Given the description of an element on the screen output the (x, y) to click on. 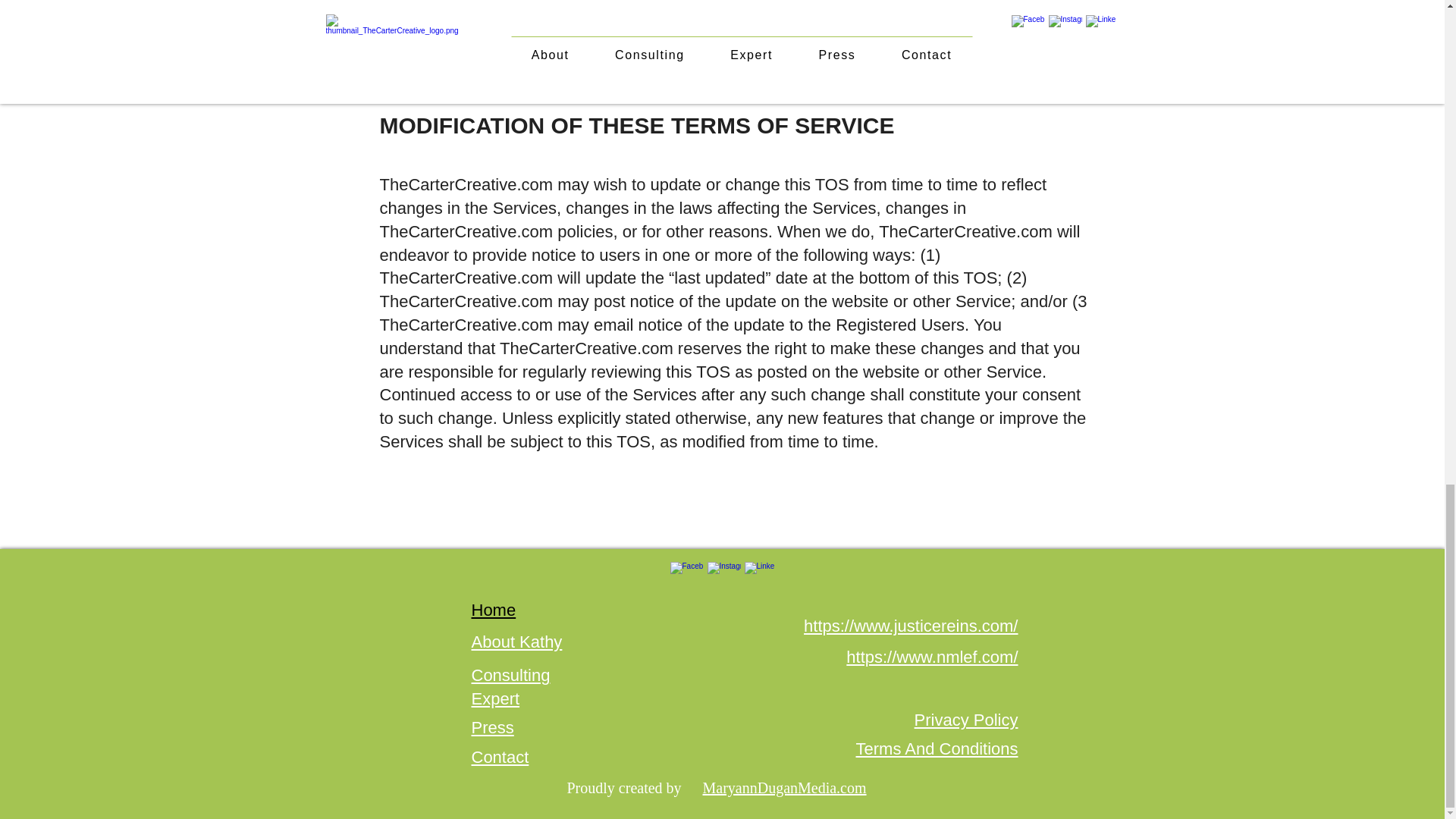
Press (492, 727)
MaryannDuganMedia.com (783, 787)
About Kathy (516, 641)
Expert (495, 698)
Terms And Conditions (936, 748)
Contact (500, 756)
Privacy Policy (965, 719)
Home (493, 609)
Consulting (510, 674)
